Given the description of an element on the screen output the (x, y) to click on. 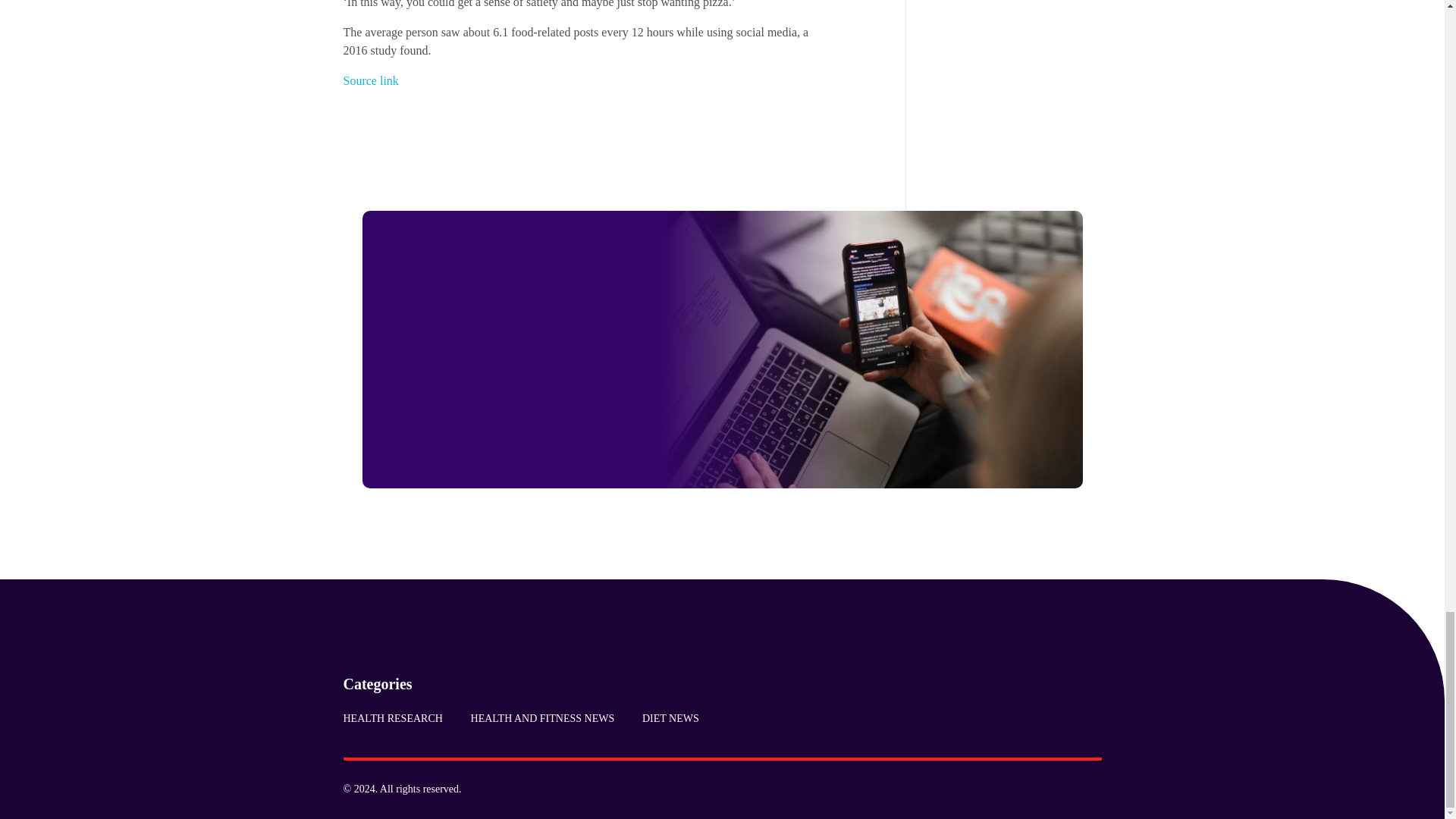
Source link (369, 80)
HEALTH AND FITNESS NEWS (542, 718)
DIET NEWS (663, 718)
Sign Me Up (534, 435)
HEALTH RESEARCH (399, 718)
